Given the description of an element on the screen output the (x, y) to click on. 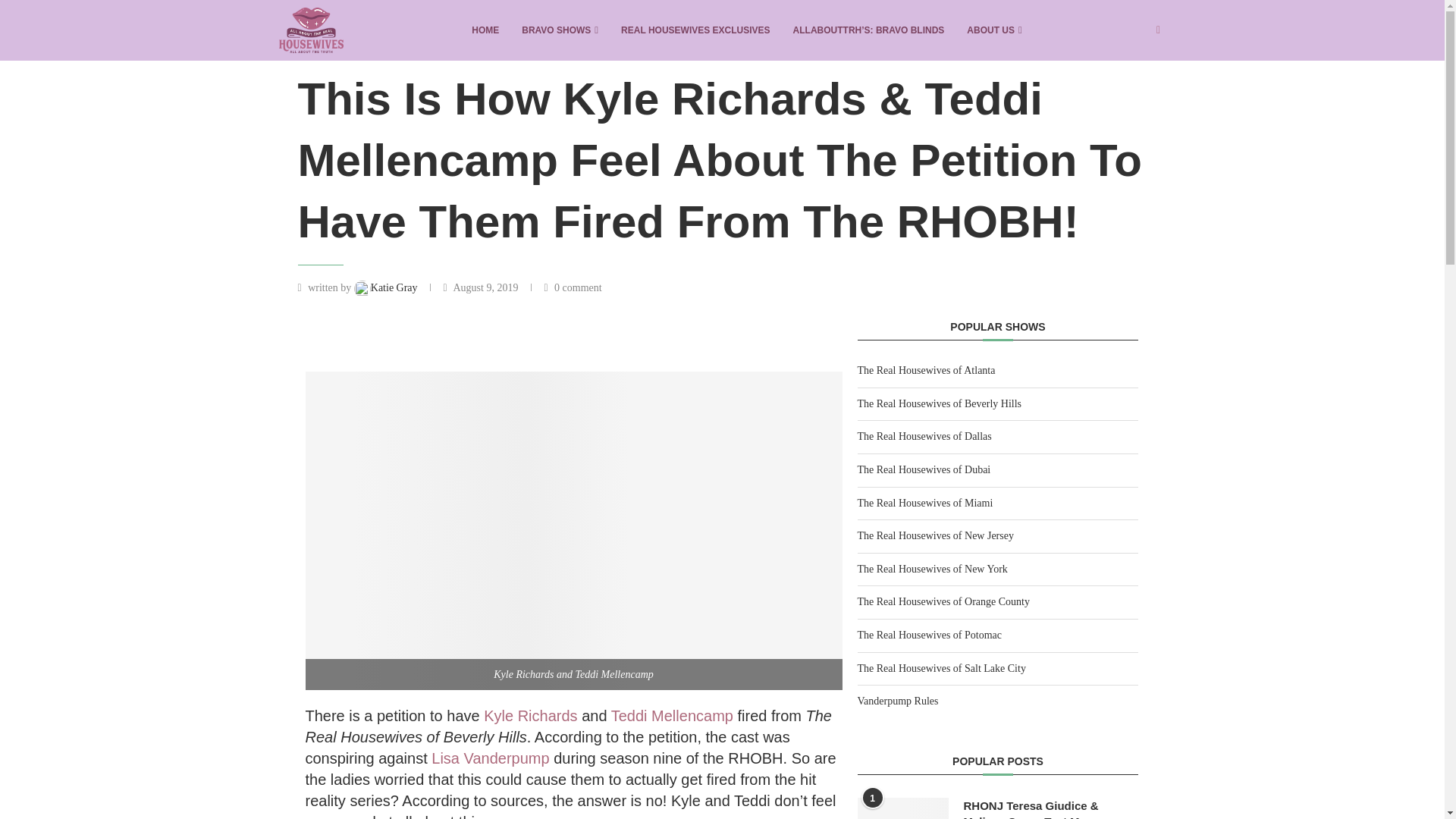
BRAVO SHOWS (559, 30)
